Given the description of an element on the screen output the (x, y) to click on. 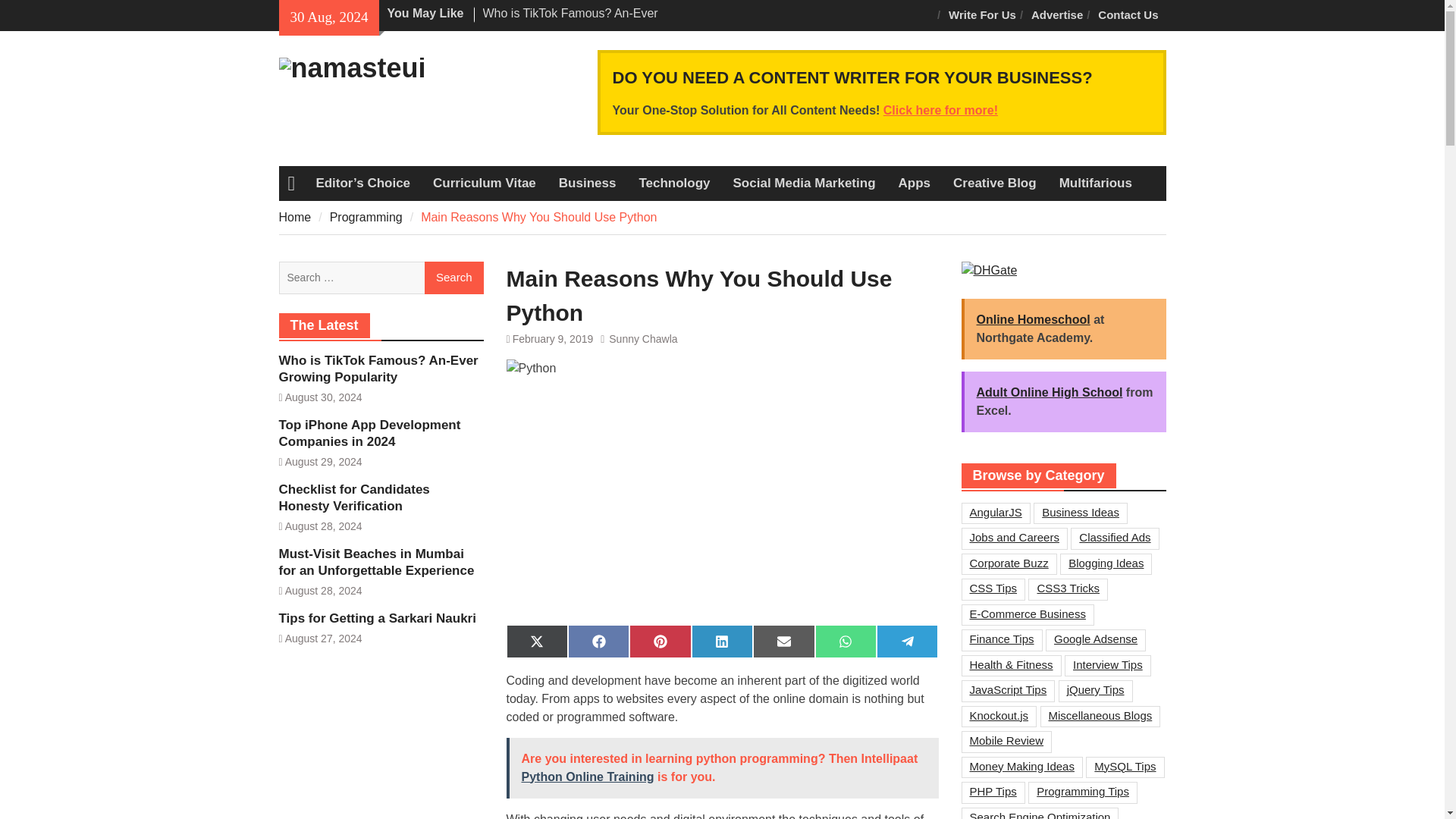
Multifarious (1095, 183)
Share on Pinterest (659, 641)
Sunny Chawla (642, 337)
Technology (673, 183)
WritoMeter - Best Content Writing Agency (940, 110)
Share on LinkedIn (721, 641)
Share on Facebook (597, 641)
Advertise (1056, 15)
Contact Us (1128, 15)
